Given the description of an element on the screen output the (x, y) to click on. 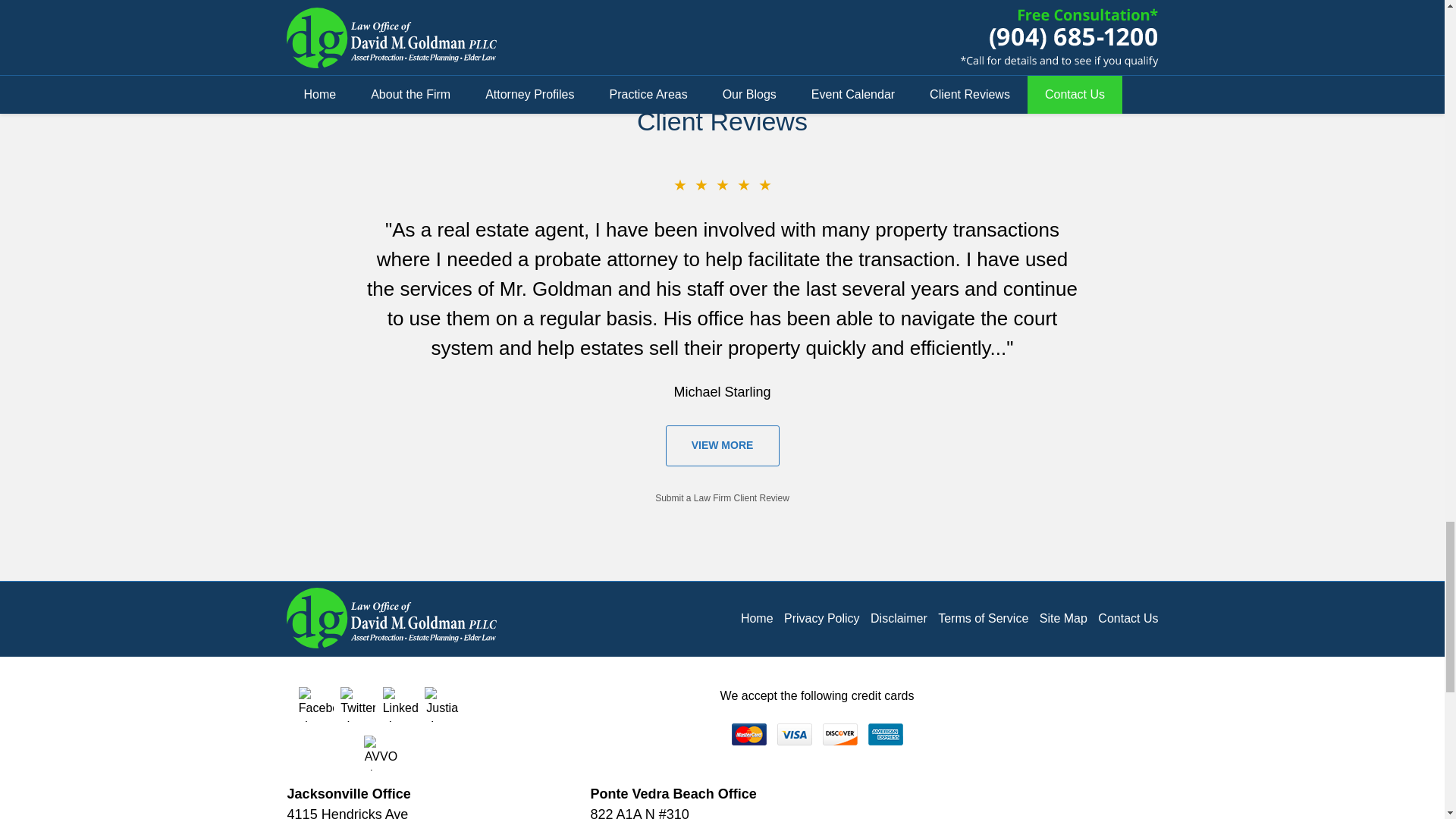
Twitter (357, 704)
AVVO (381, 752)
Justia (442, 704)
Facebook (315, 704)
LinkedIn (399, 704)
